Given the description of an element on the screen output the (x, y) to click on. 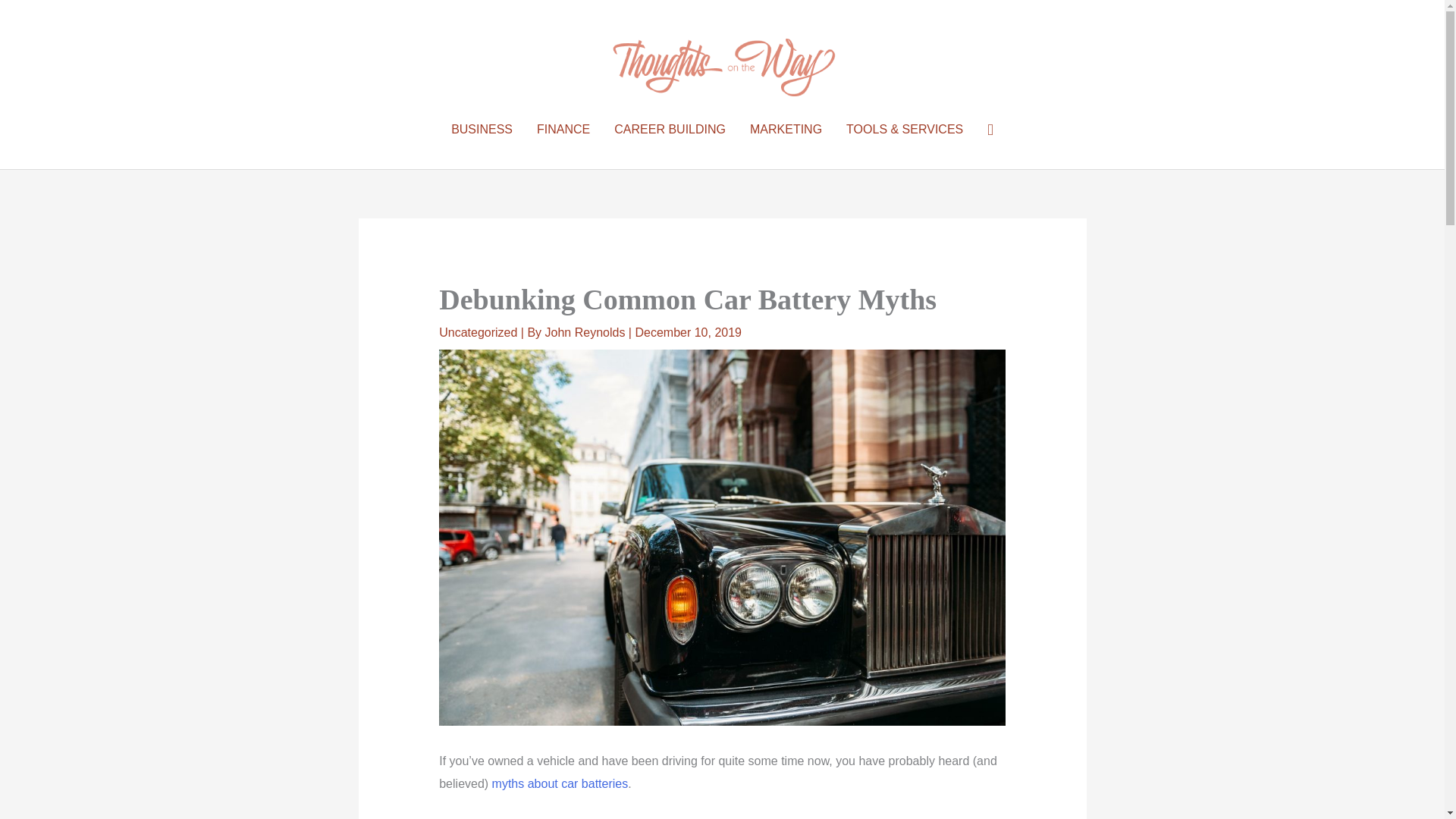
FINANCE (563, 129)
CAREER BUILDING (670, 129)
Uncategorized (477, 332)
BUSINESS (481, 129)
myths about car batteries (560, 783)
MARKETING (786, 129)
Popular Mechanics (560, 783)
View all posts by John Reynolds (586, 332)
John Reynolds (586, 332)
